Given the description of an element on the screen output the (x, y) to click on. 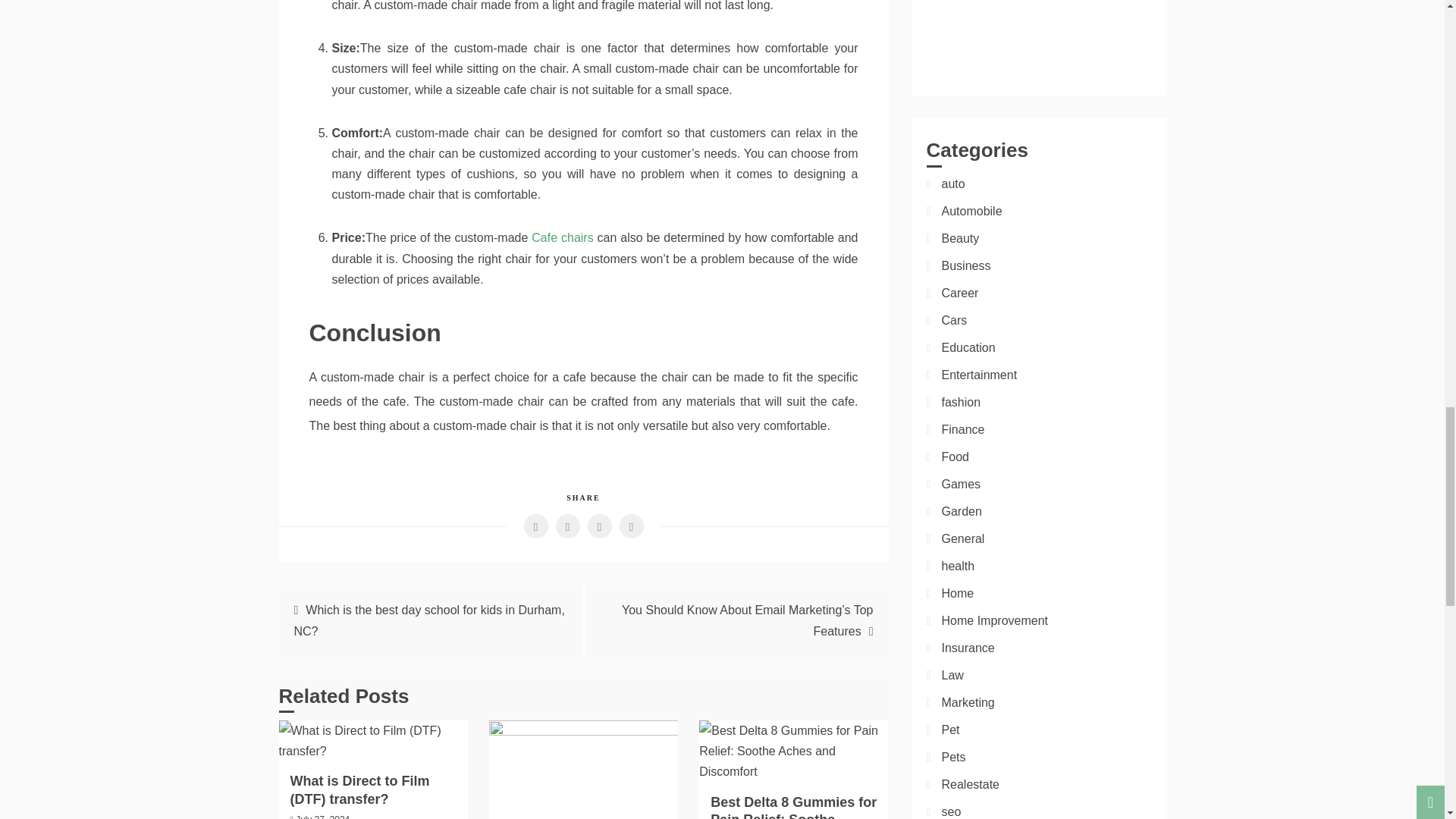
July 27, 2024 (322, 816)
Cafe chairs (561, 237)
Which is the best day school for kids in Durham, NC? (429, 620)
